Given the description of an element on the screen output the (x, y) to click on. 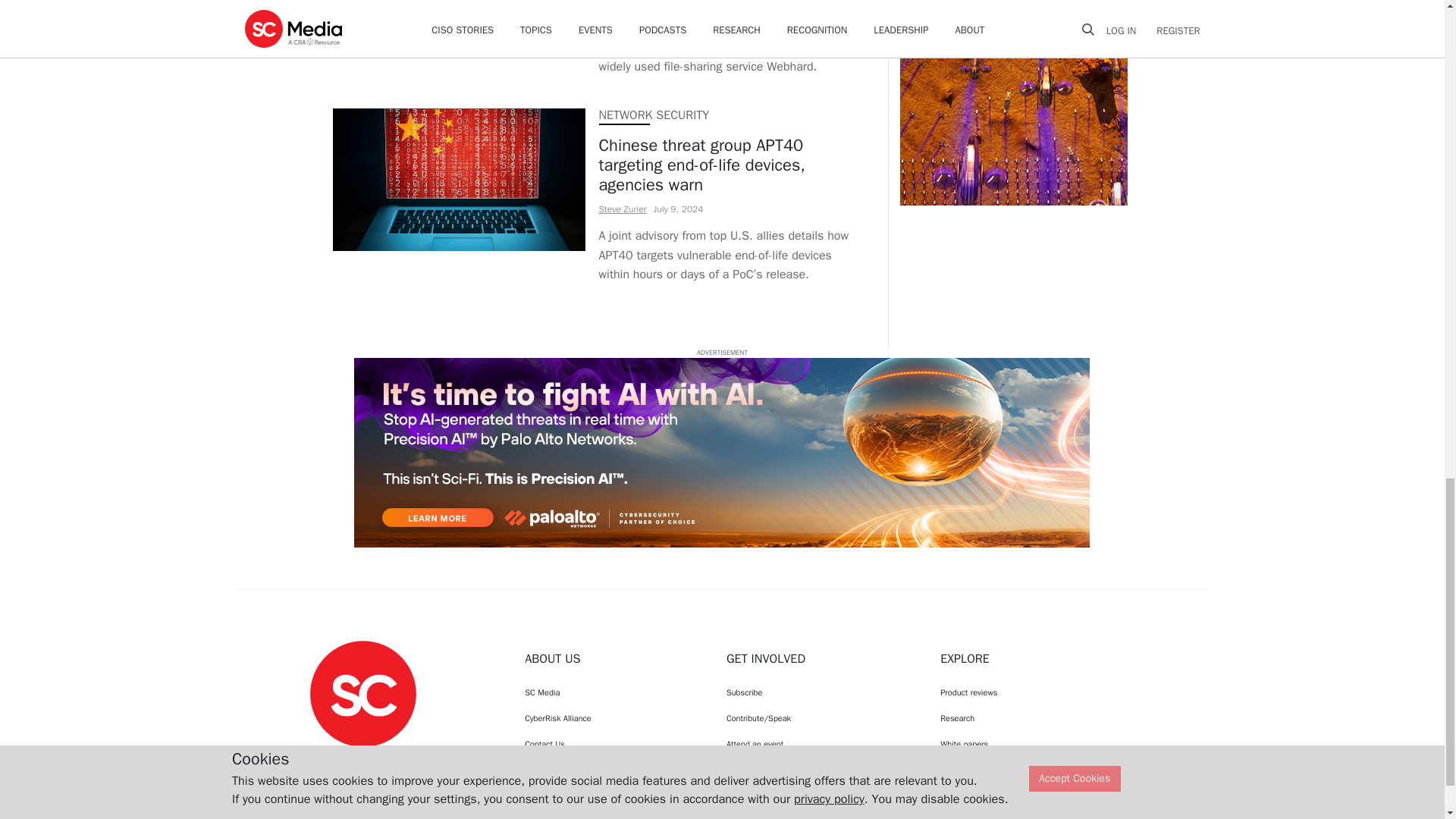
SC Media (612, 692)
Steve Zurier (622, 209)
SCMagazine on Facebook (324, 760)
3rd party ad content (1012, 102)
SC Media (362, 693)
NETWORK SECURITY (654, 114)
SCMagazine on LinkedIn (401, 760)
CyberRisk Alliance (612, 718)
SCMagazine on Twitter (362, 760)
